Given the description of an element on the screen output the (x, y) to click on. 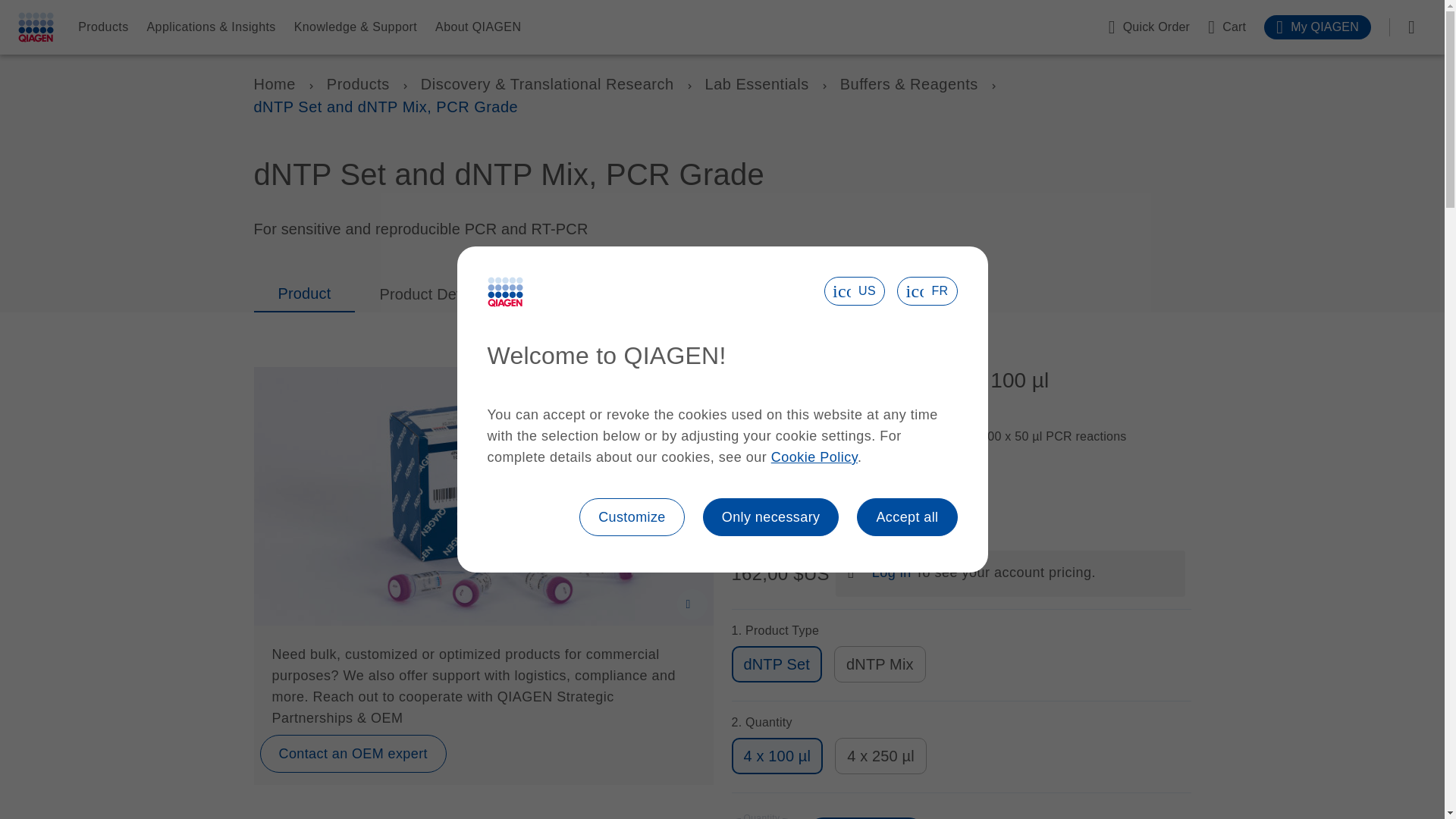
My QIAGEN (1317, 27)
Quick Order (1148, 27)
Only necessary (771, 516)
About QIAGEN (478, 27)
Lab Essentials (756, 83)
Cart (1227, 27)
Cart (1227, 27)
Products (103, 27)
Cookie Policy (814, 457)
Accept all (906, 516)
